Given the description of an element on the screen output the (x, y) to click on. 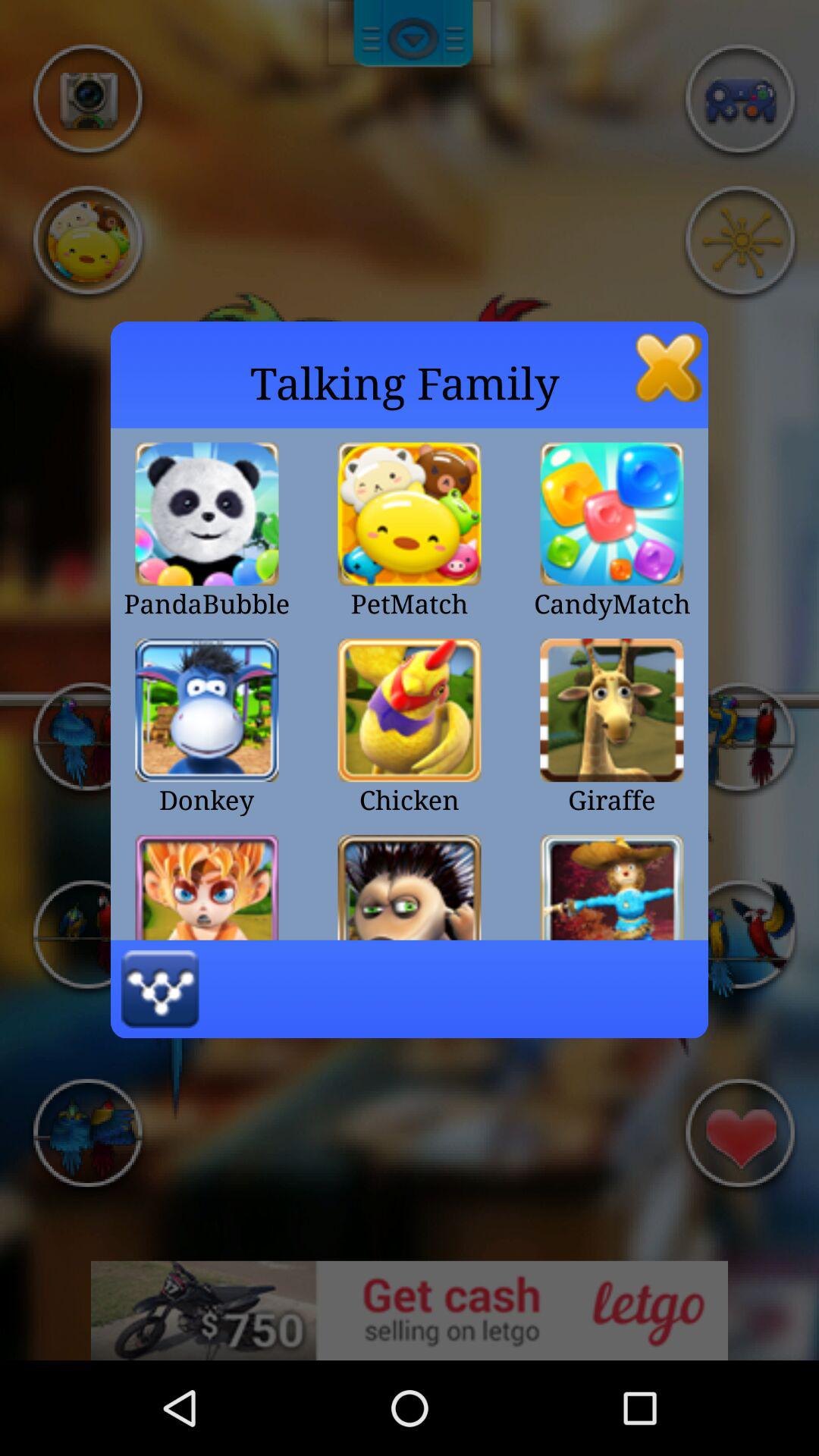
turn off the item at the top right corner (668, 367)
